Given the description of an element on the screen output the (x, y) to click on. 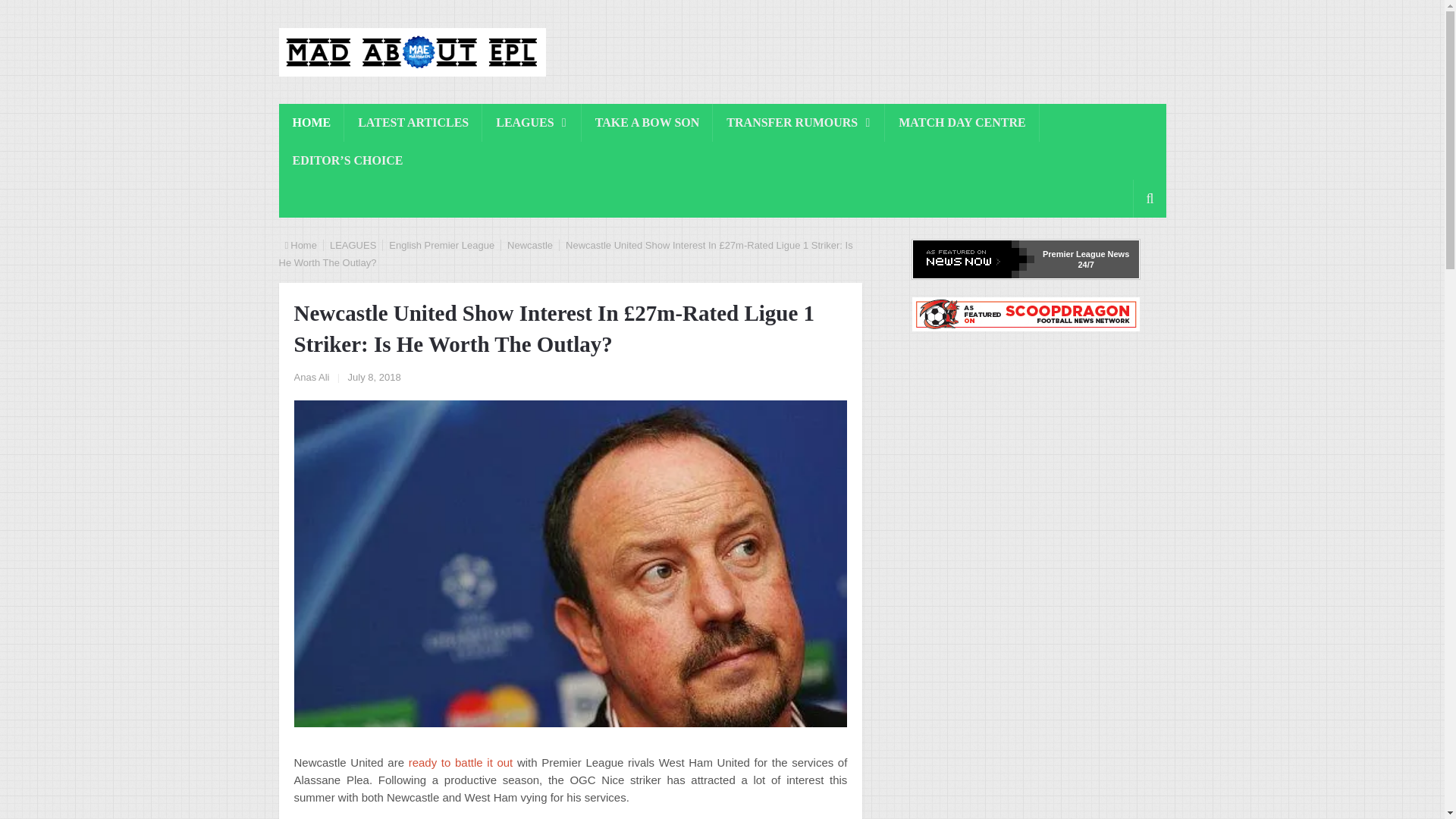
LEAGUES (530, 122)
Posts by Anas Ali (312, 377)
HOME (312, 122)
LATEST ARTICLES (412, 122)
